Given the description of an element on the screen output the (x, y) to click on. 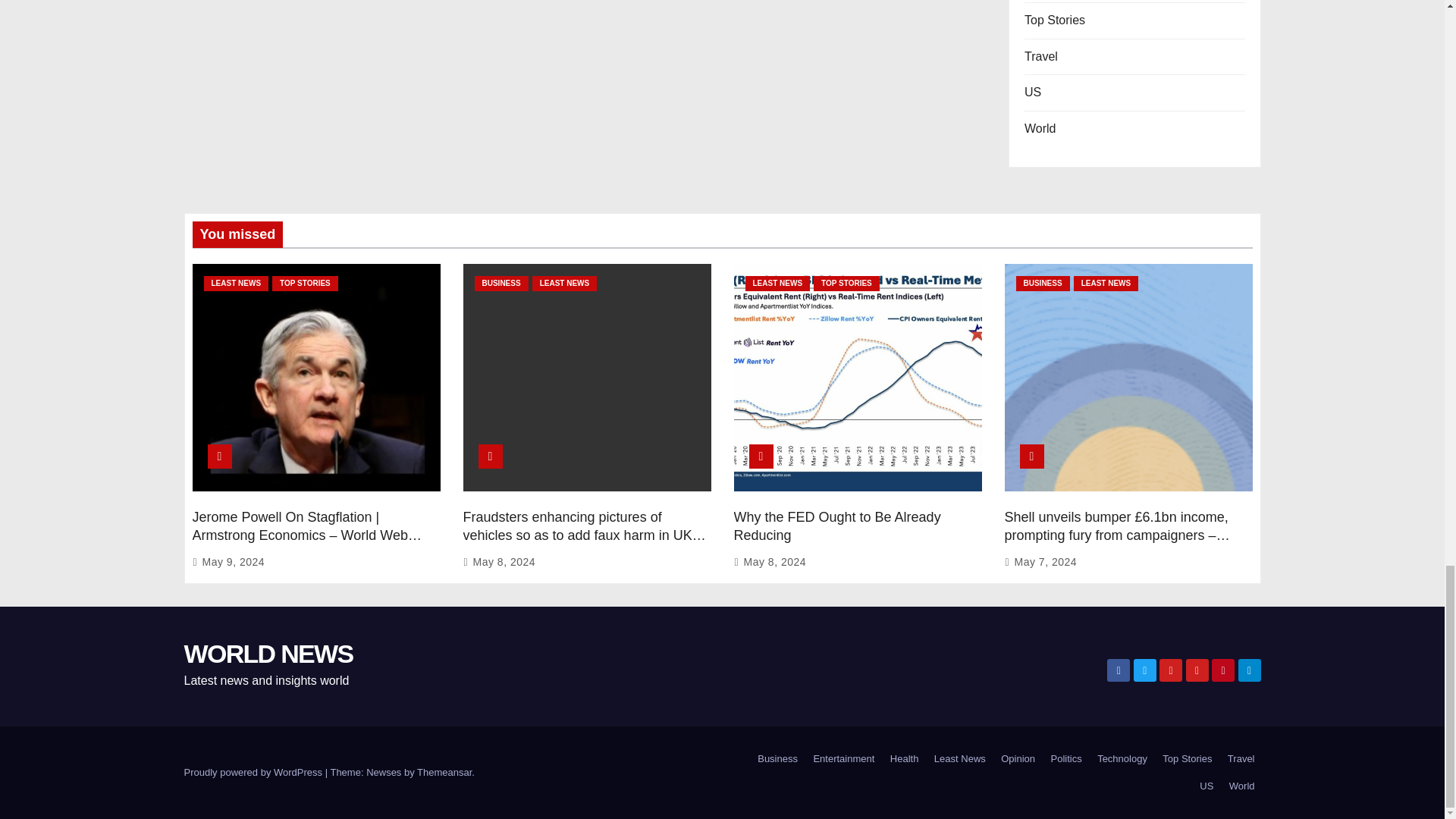
Permalink to: Why the FED Ought to Be Already Reducing (836, 525)
